Given the description of an element on the screen output the (x, y) to click on. 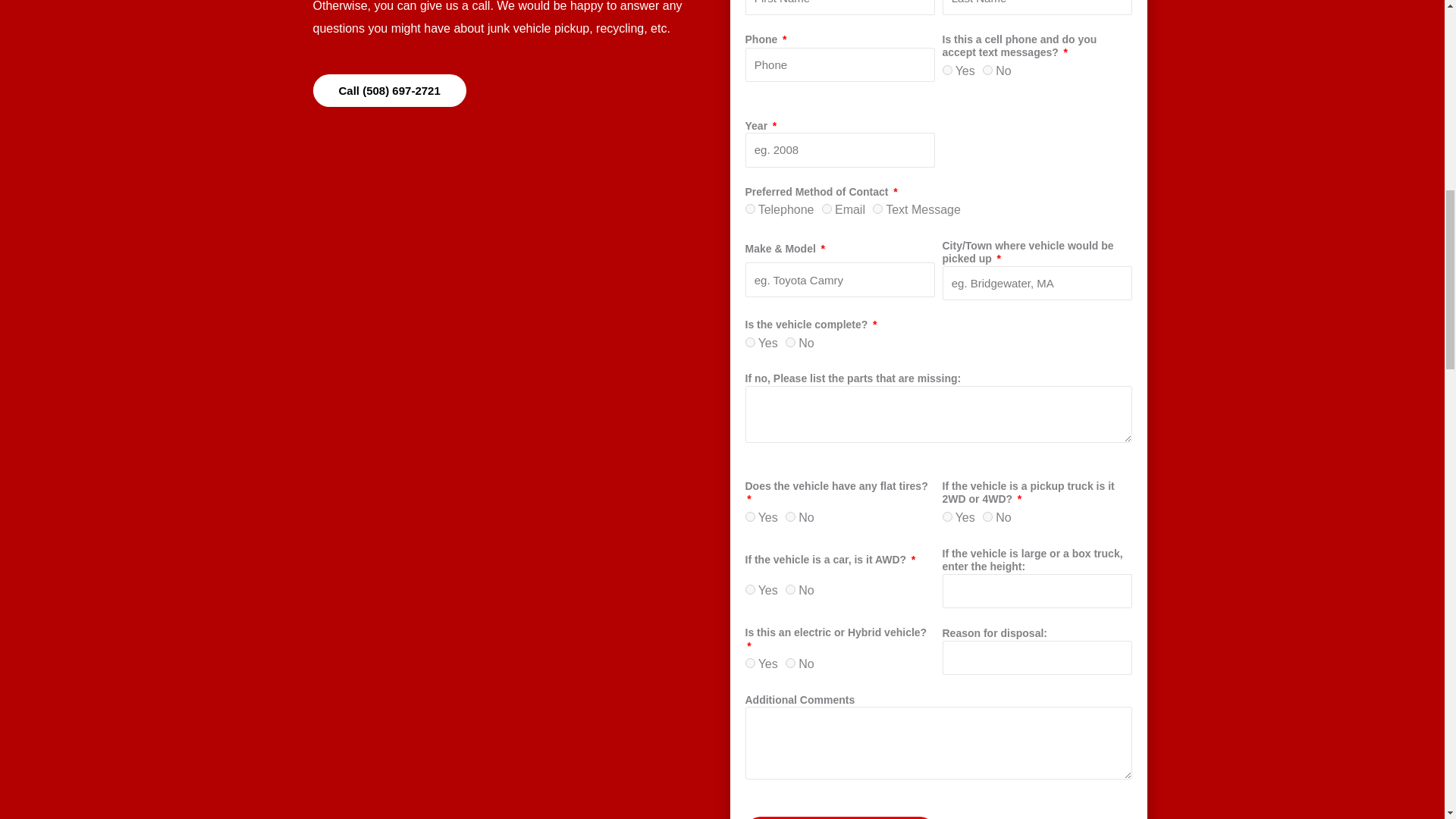
No (790, 342)
No (987, 516)
Email (826, 208)
SUBMIT (839, 817)
Telephone (749, 208)
Text Message (877, 208)
Yes (749, 589)
Yes (947, 70)
No (790, 589)
No (790, 516)
